Given the description of an element on the screen output the (x, y) to click on. 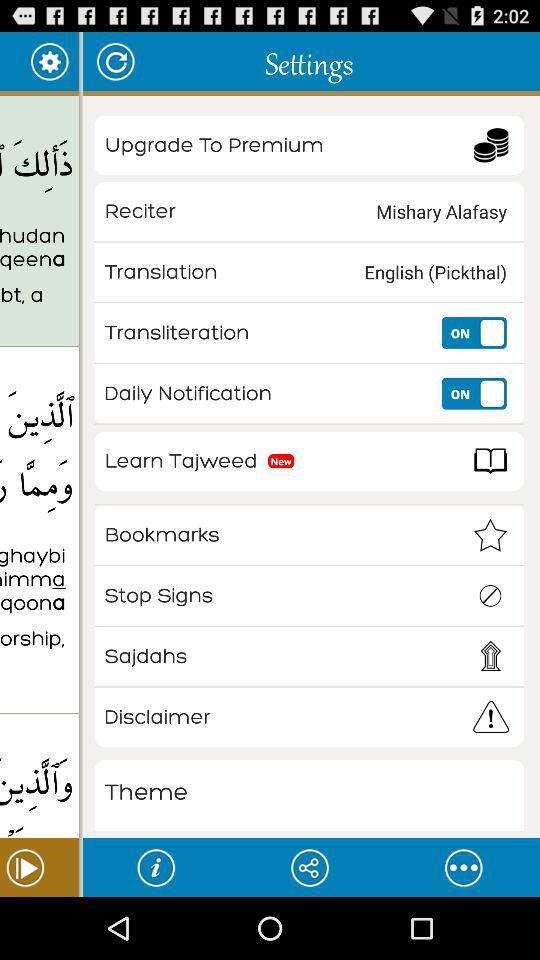
select item below the who believe in (39, 779)
